Given the description of an element on the screen output the (x, y) to click on. 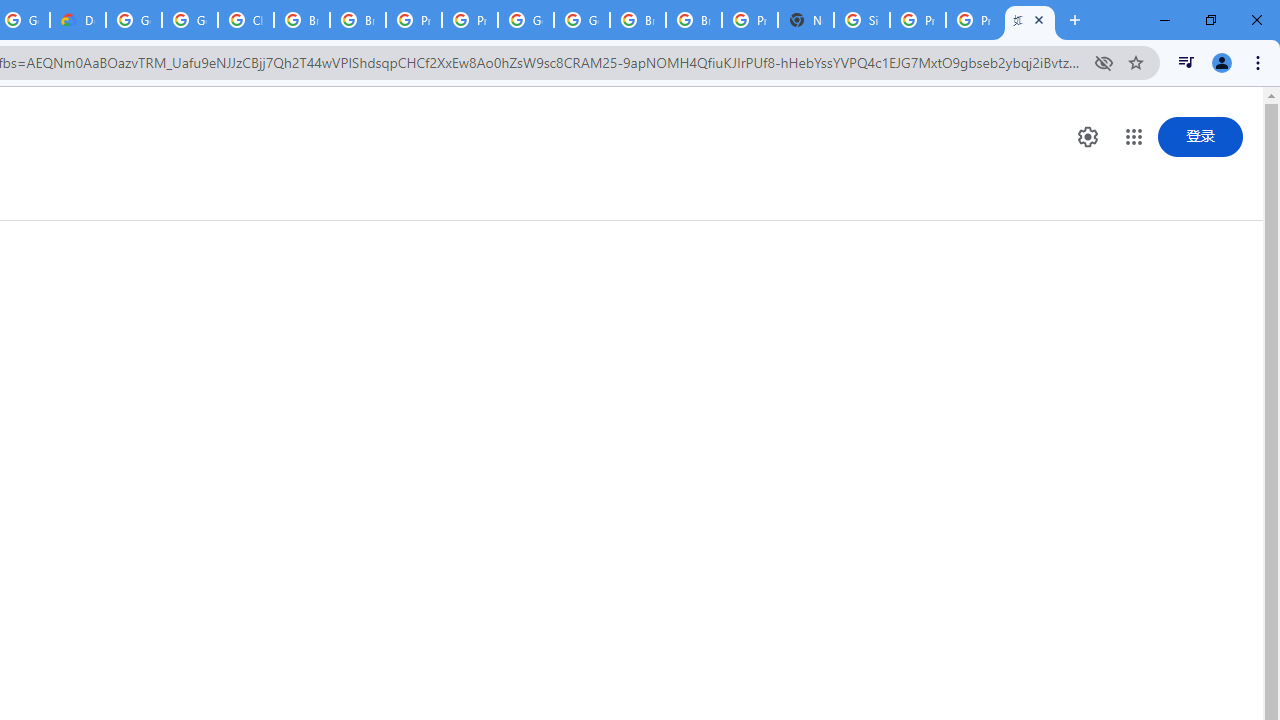
Google Cloud Platform (134, 20)
Google Cloud Platform (525, 20)
